Given the description of an element on the screen output the (x, y) to click on. 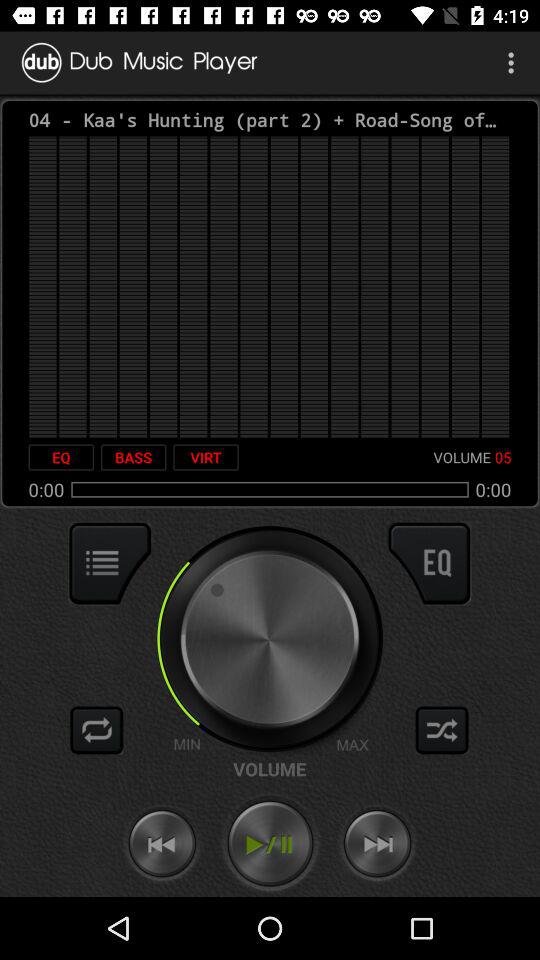
fast forward (377, 844)
